Given the description of an element on the screen output the (x, y) to click on. 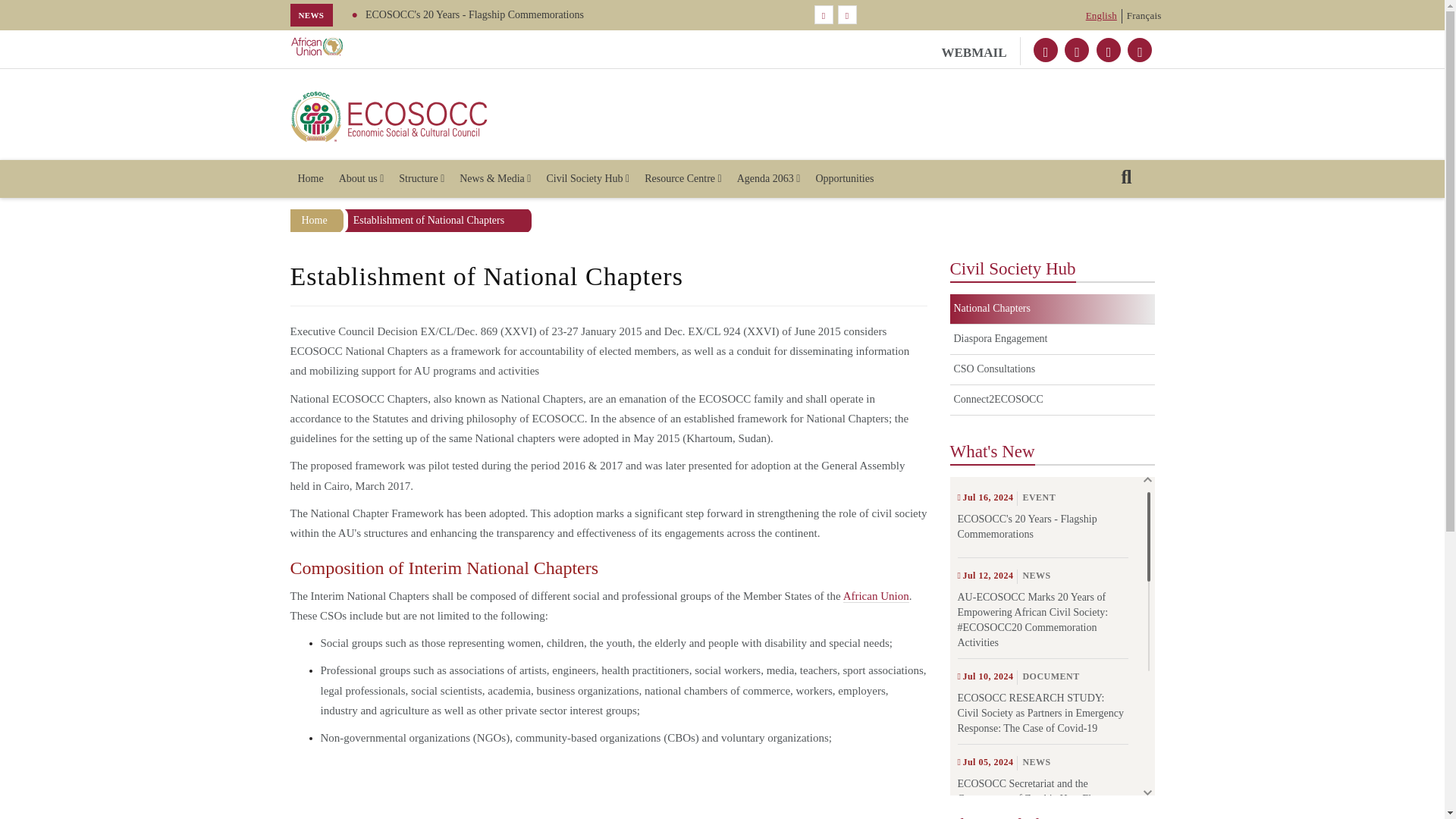
Twitter (1045, 49)
English (1101, 15)
Facebook (1076, 49)
Youtube (1108, 49)
flickr (1138, 49)
Home (309, 178)
WEBMAIL (982, 50)
Home (389, 117)
ECOSOCC's 20 Years - Flagship Commemorations (457, 14)
